Given the description of an element on the screen output the (x, y) to click on. 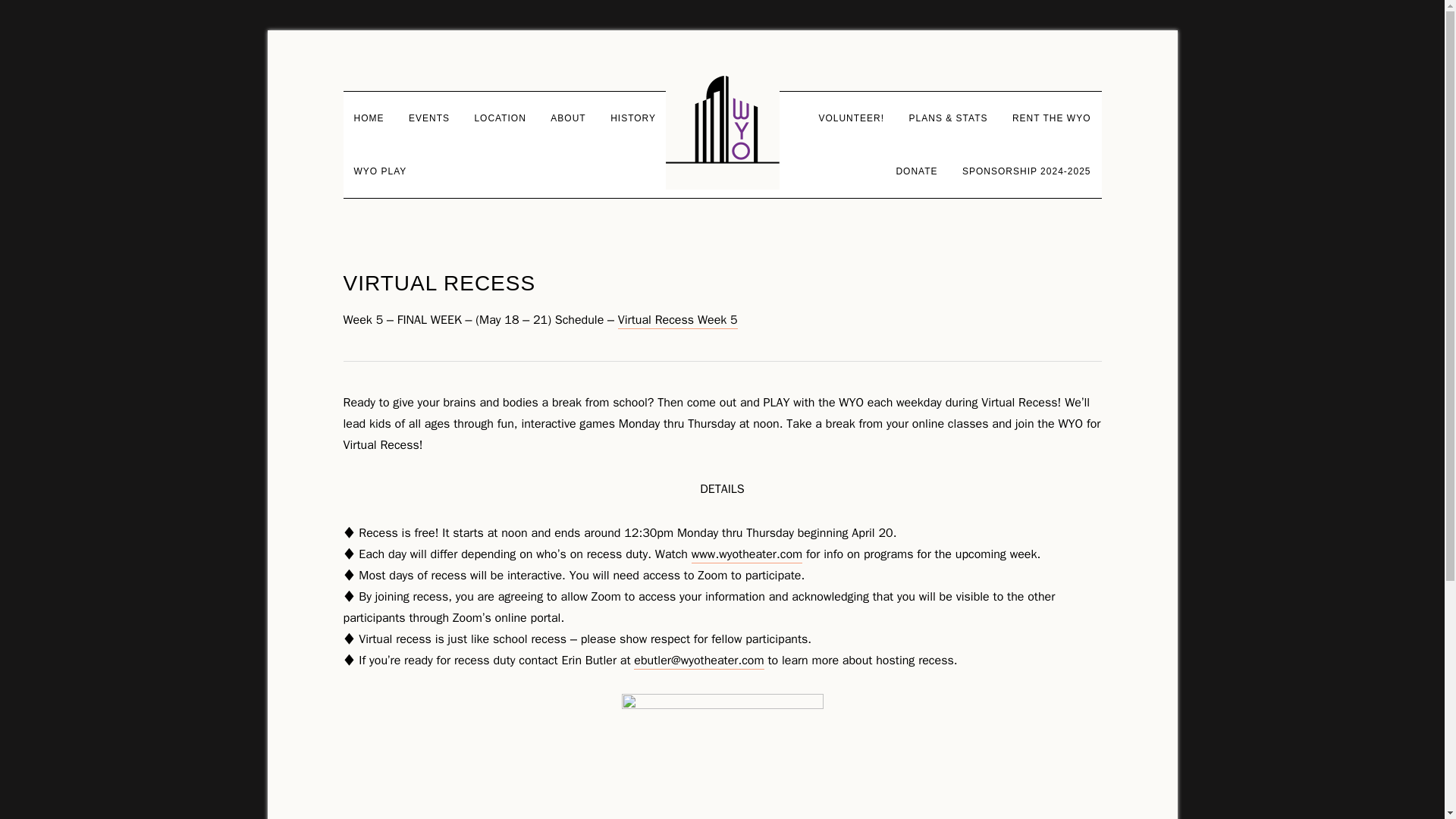
WYO PLAY (379, 171)
DONATE (916, 171)
www.wyotheater.com (746, 555)
ABOUT (567, 117)
WYO THEATER (721, 132)
Virtual Recess Week 5 (677, 320)
Exercise Clipart (721, 743)
LOCATION (499, 117)
HISTORY (632, 117)
EVENTS (428, 117)
